Given the description of an element on the screen output the (x, y) to click on. 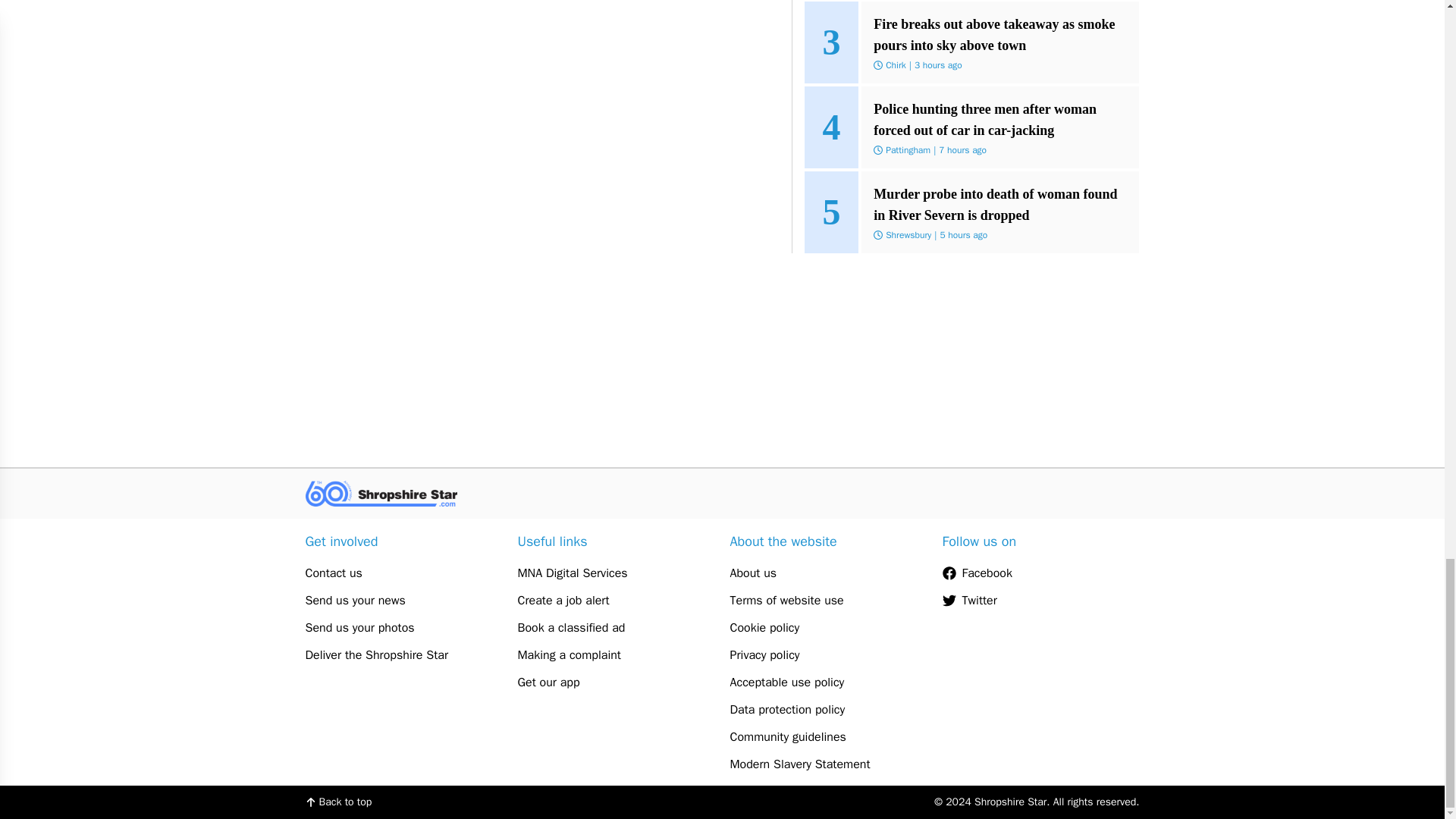
Chirk (895, 64)
Pattingham (907, 150)
Shrewsbury (908, 234)
